Given the description of an element on the screen output the (x, y) to click on. 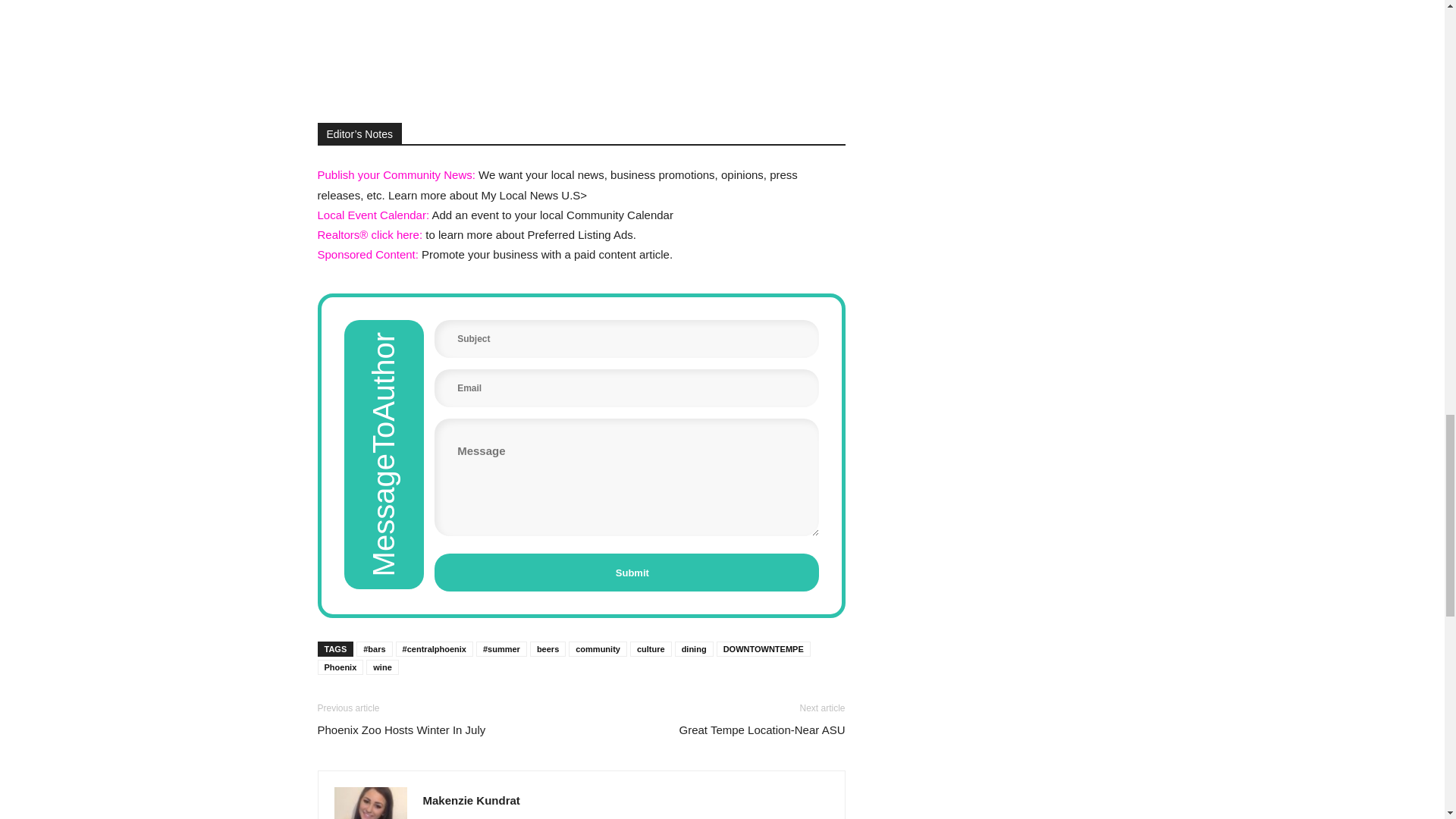
Submit (625, 572)
